Given the description of an element on the screen output the (x, y) to click on. 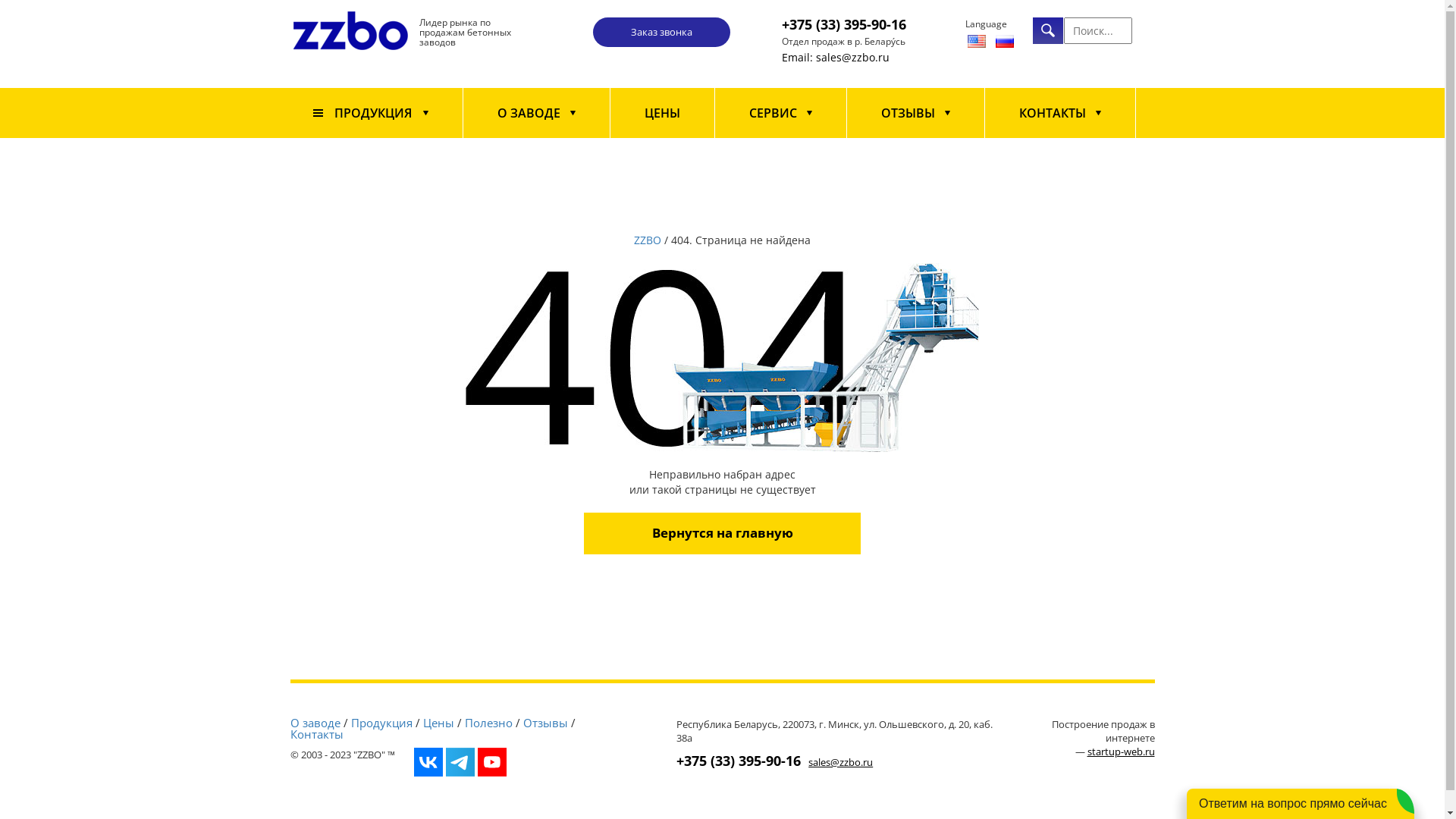
Email: sales@zzbo.ru Element type: text (835, 57)
startup-web.ru Element type: text (1120, 751)
+375 (33) 395-90-16 Element type: text (738, 759)
+375 (33) 395-90-16 Element type: text (843, 24)
English Element type: hover (976, 41)
ZZBO Element type: text (647, 239)
sales@zzbo.ru Element type: text (840, 761)
